Given the description of an element on the screen output the (x, y) to click on. 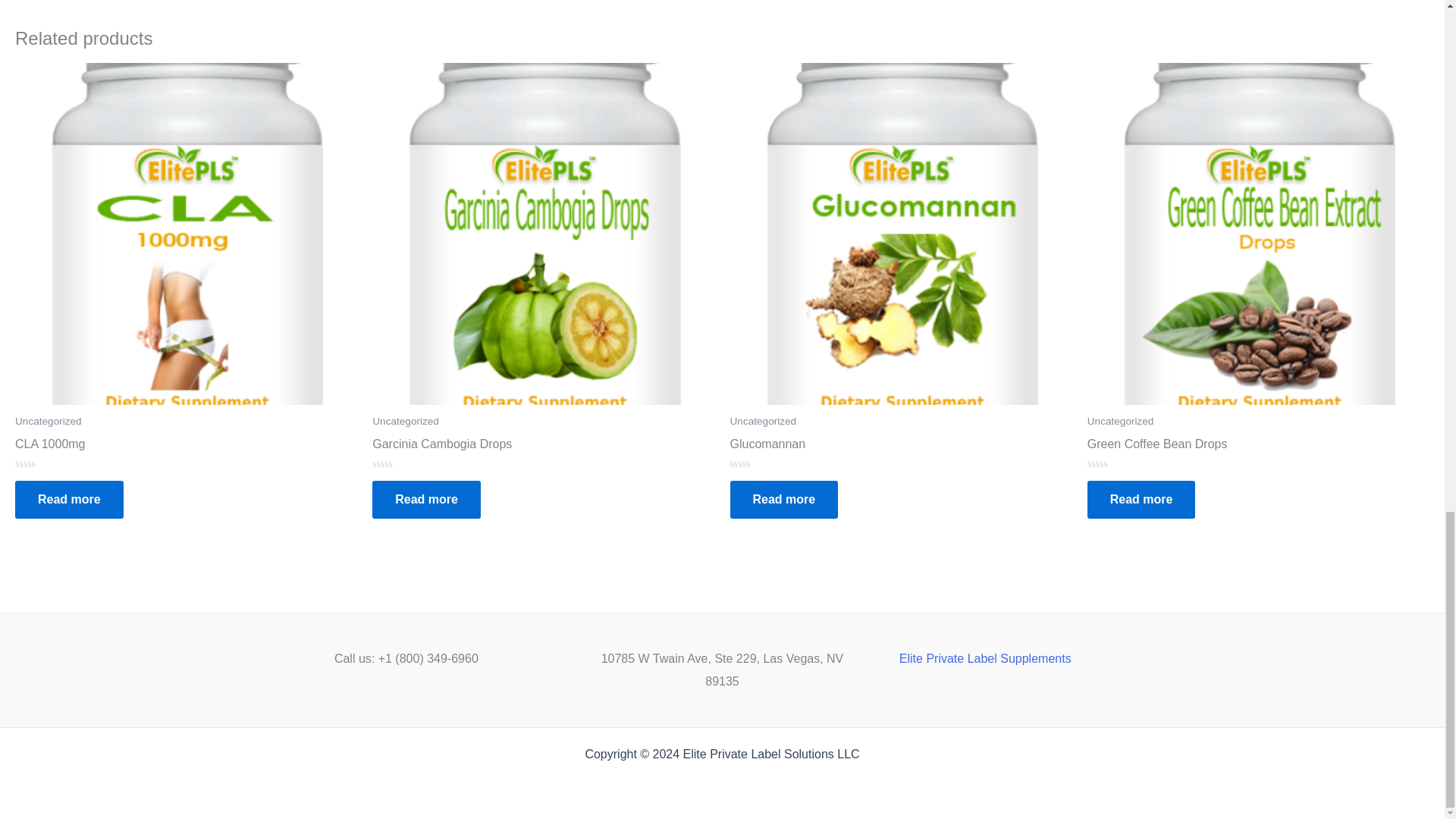
Read more (426, 499)
CLA 1000mg (185, 447)
Garcinia Cambogia Drops (543, 447)
Read more (68, 499)
